Given the description of an element on the screen output the (x, y) to click on. 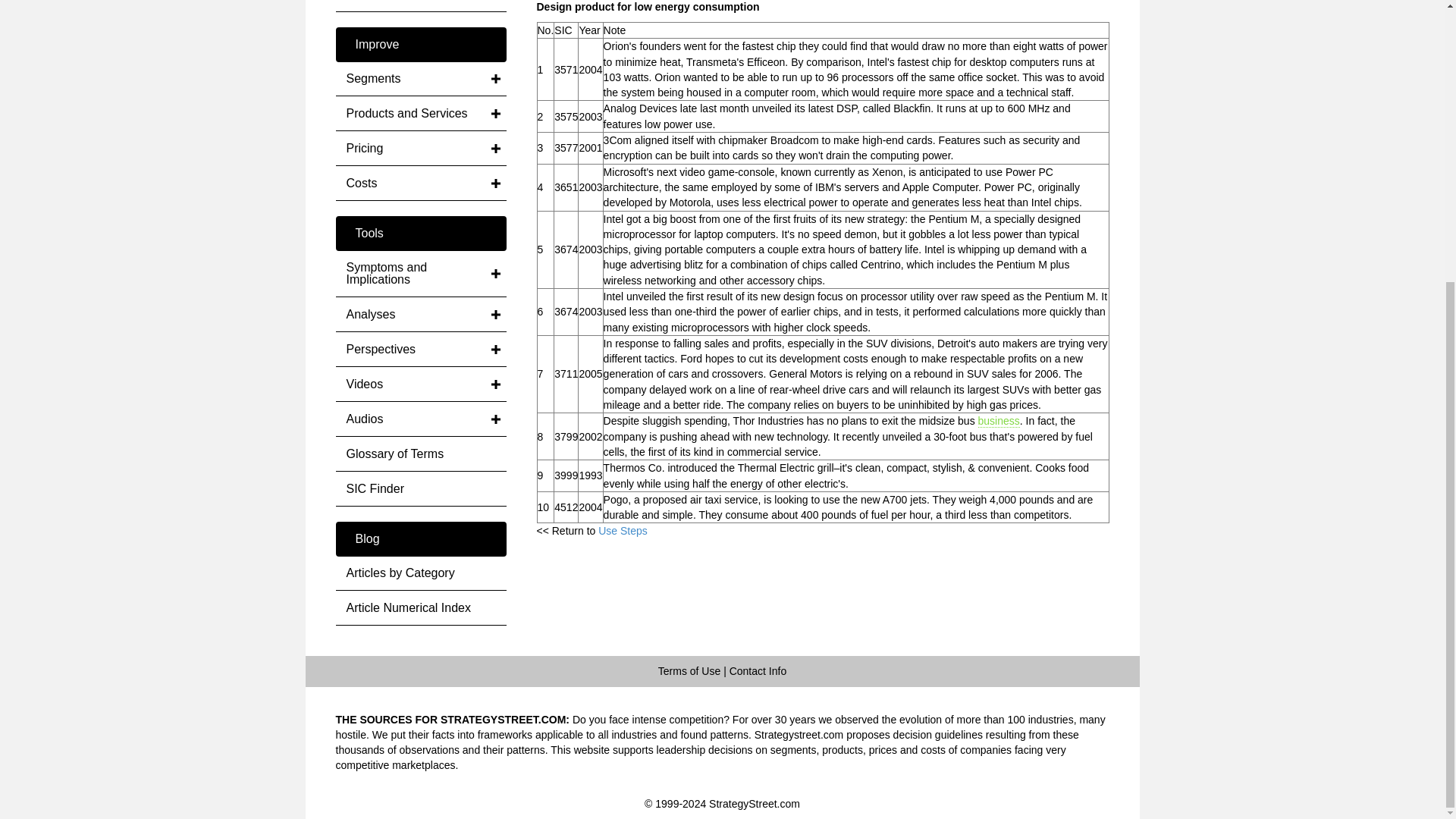
Segments (419, 78)
Costs (419, 5)
Improve (419, 44)
